Given the description of an element on the screen output the (x, y) to click on. 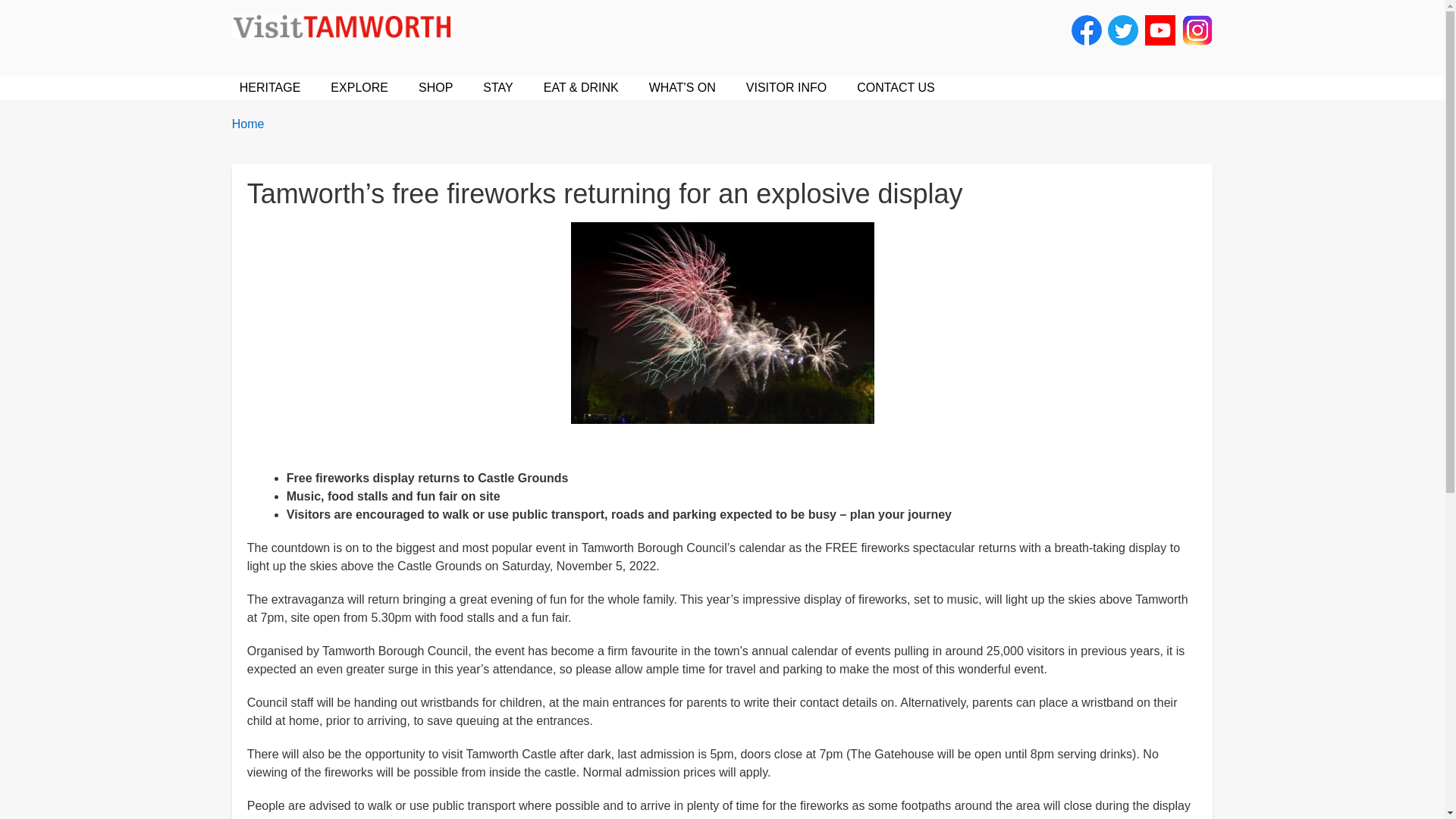
Home (348, 26)
EXPLORE (359, 87)
SHOP (435, 87)
STAY (497, 87)
HERITAGE (269, 87)
